Given the description of an element on the screen output the (x, y) to click on. 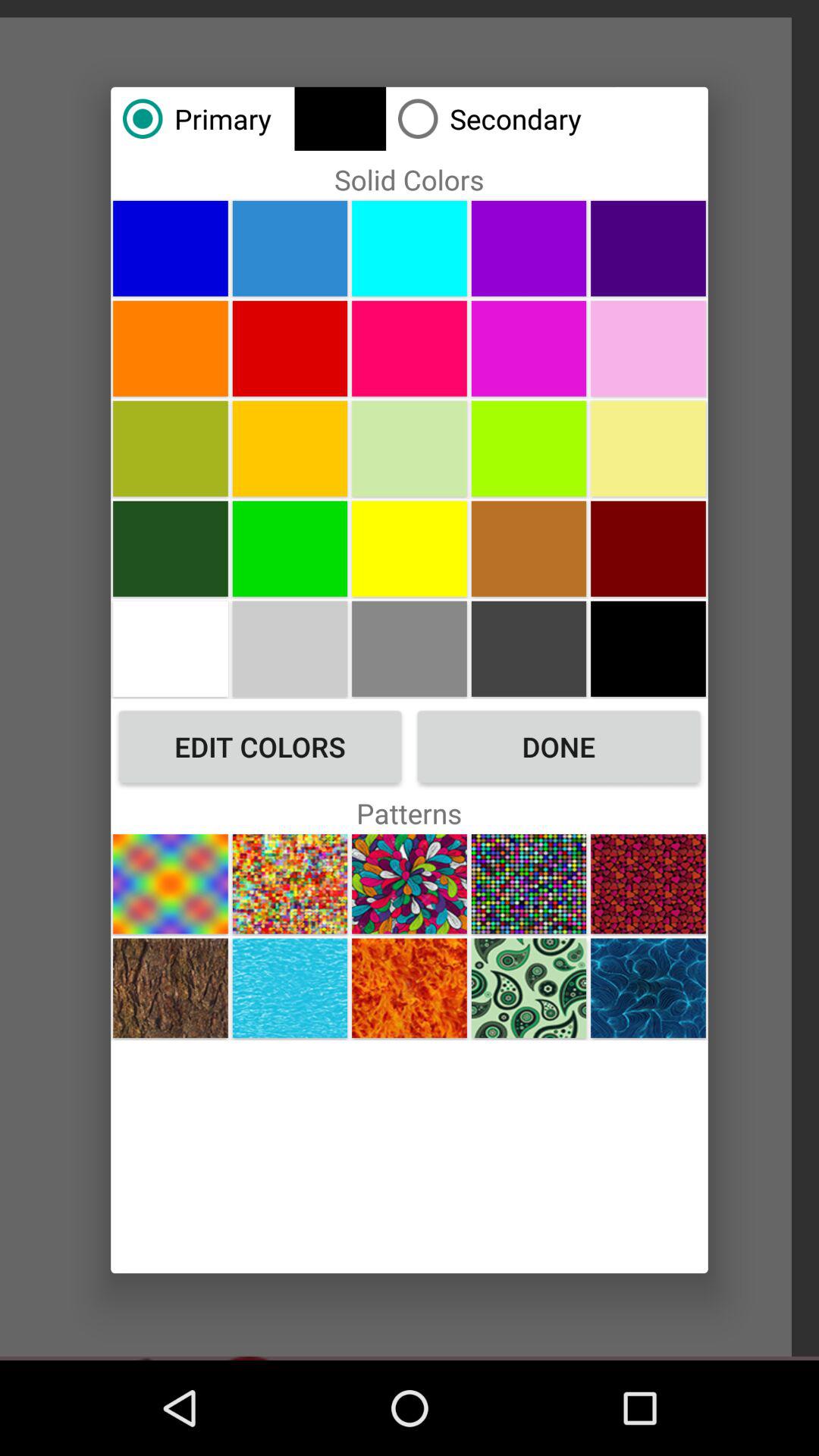
select the item below the primary icon (170, 248)
